Given the description of an element on the screen output the (x, y) to click on. 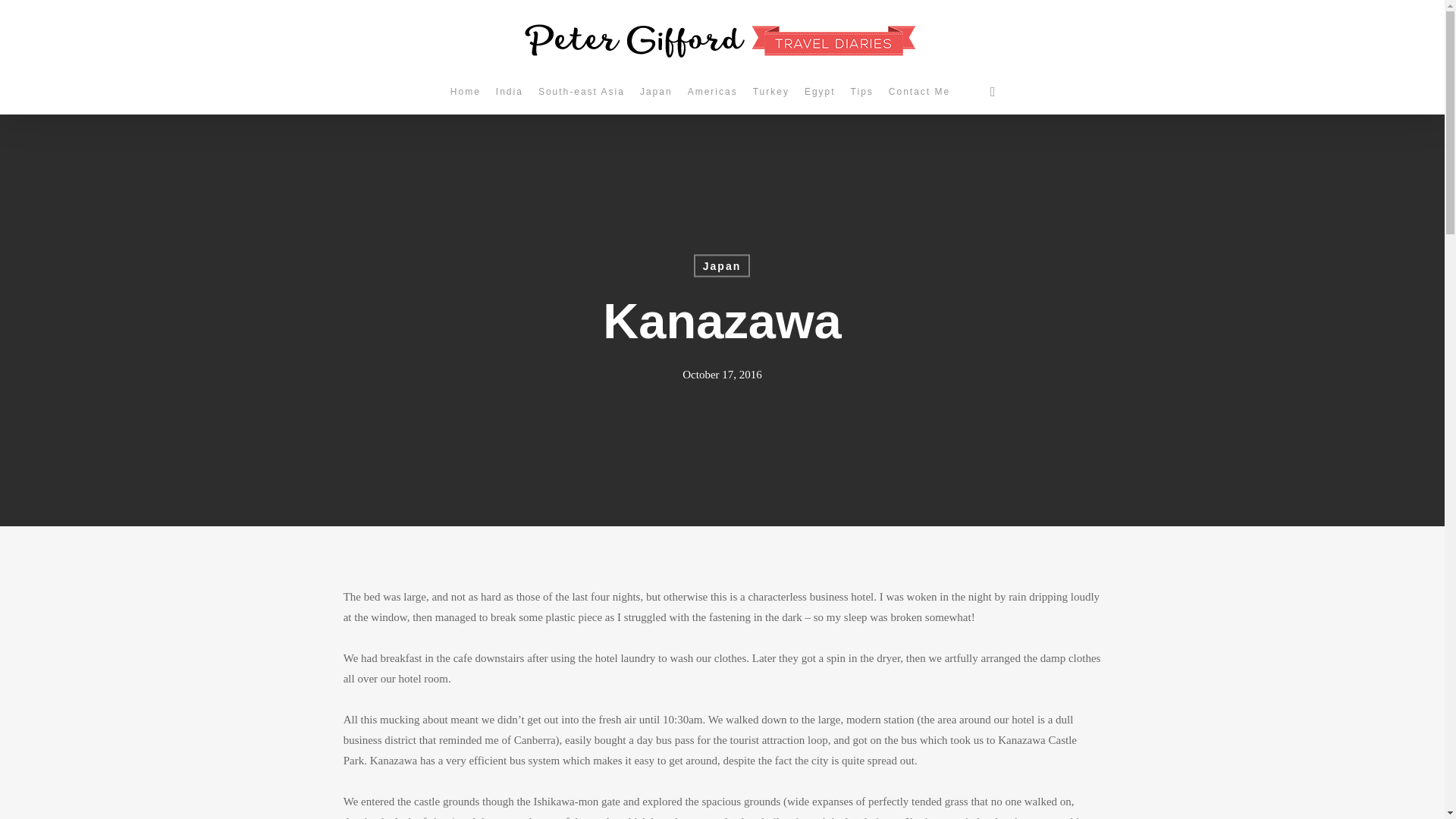
search (992, 91)
Contact Me (919, 91)
Egypt (819, 91)
Japan (655, 91)
Tips (861, 91)
Home (464, 91)
Turkey (770, 91)
South-east Asia (581, 91)
Americas (712, 91)
Japan (721, 265)
